Given the description of an element on the screen output the (x, y) to click on. 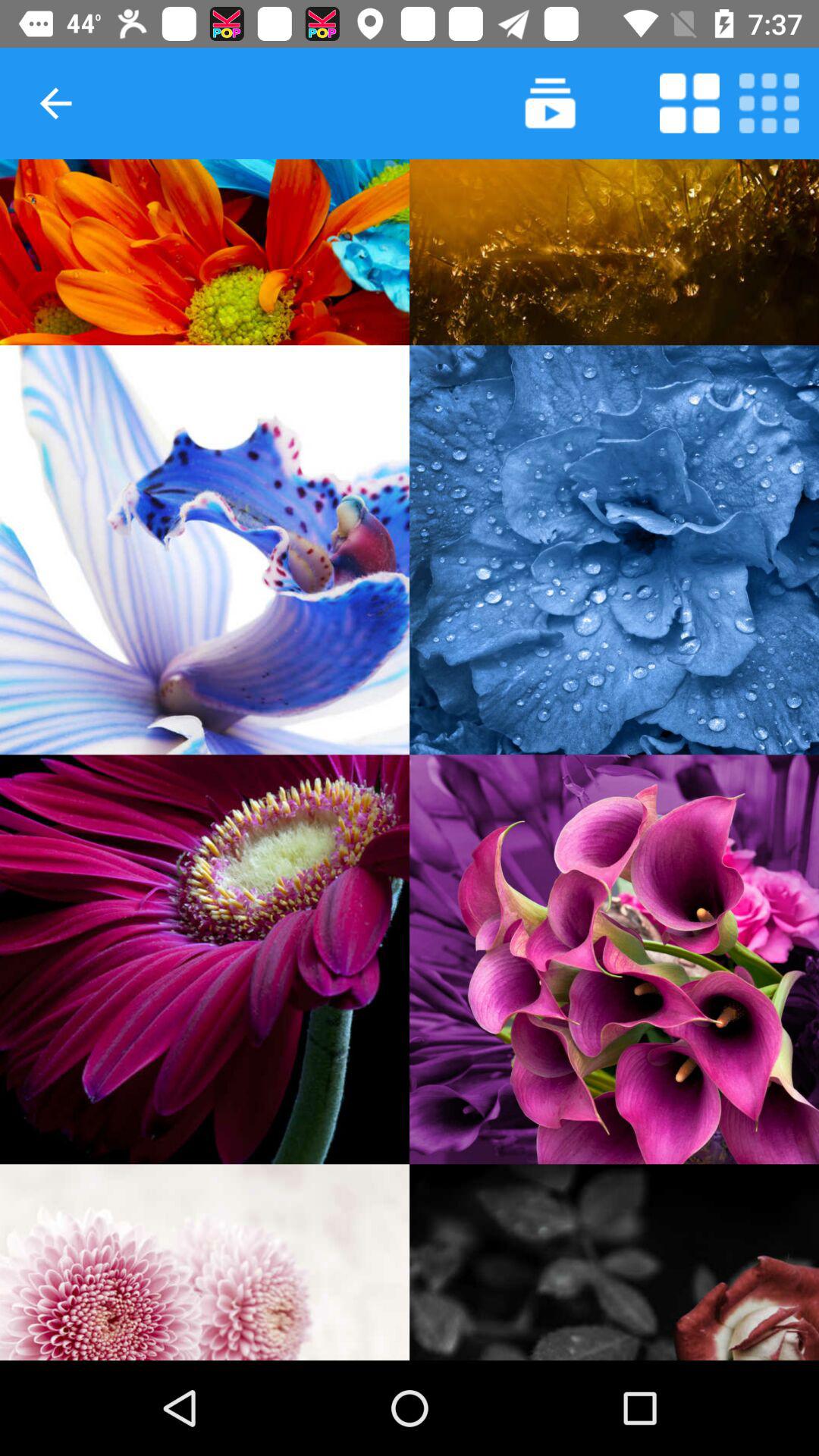
select the sticker or emoji (614, 1262)
